Given the description of an element on the screen output the (x, y) to click on. 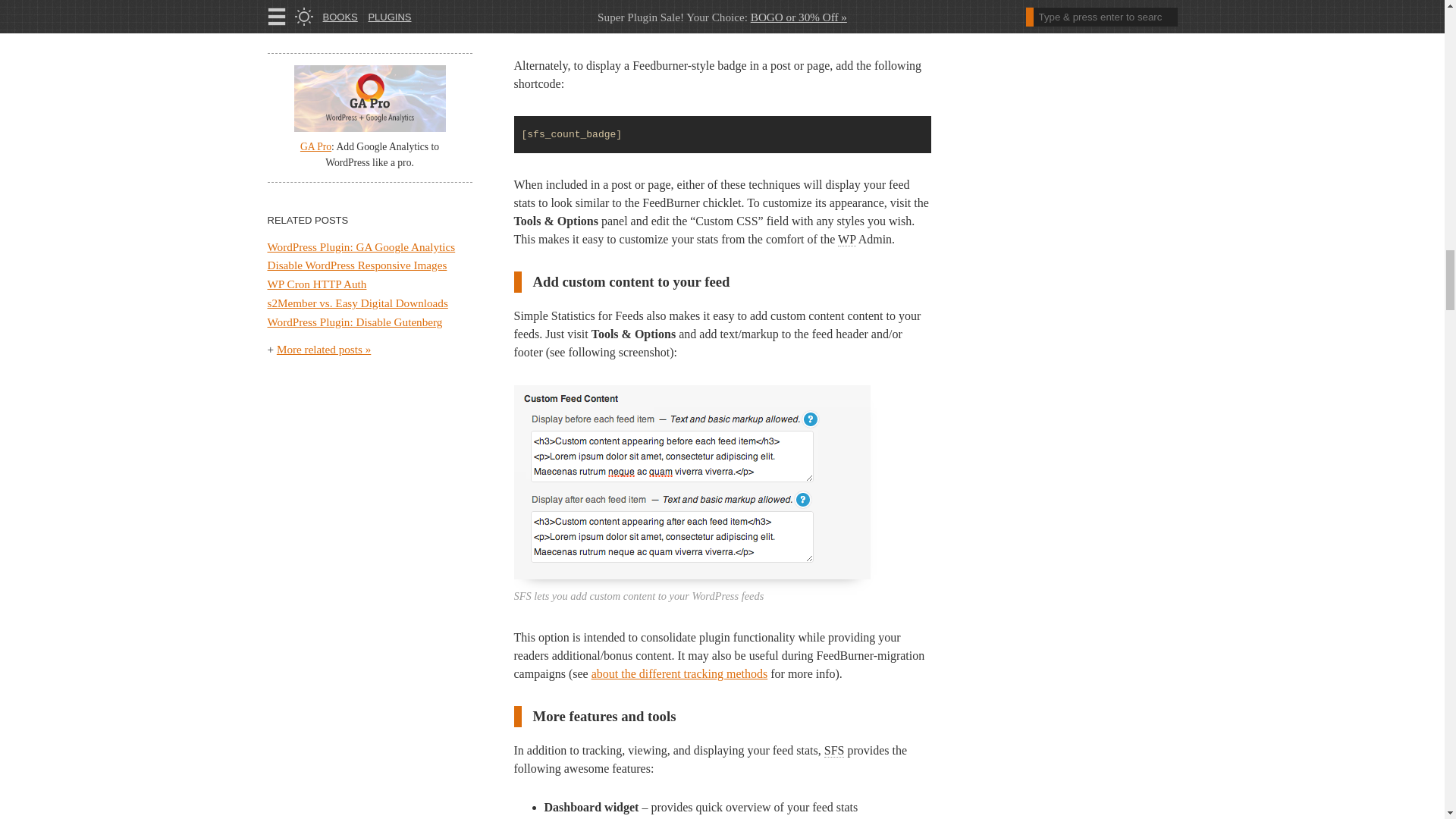
WordPress (847, 239)
about the different tracking methods (679, 673)
Simple Statistics for Feeds (834, 750)
